Given the description of an element on the screen output the (x, y) to click on. 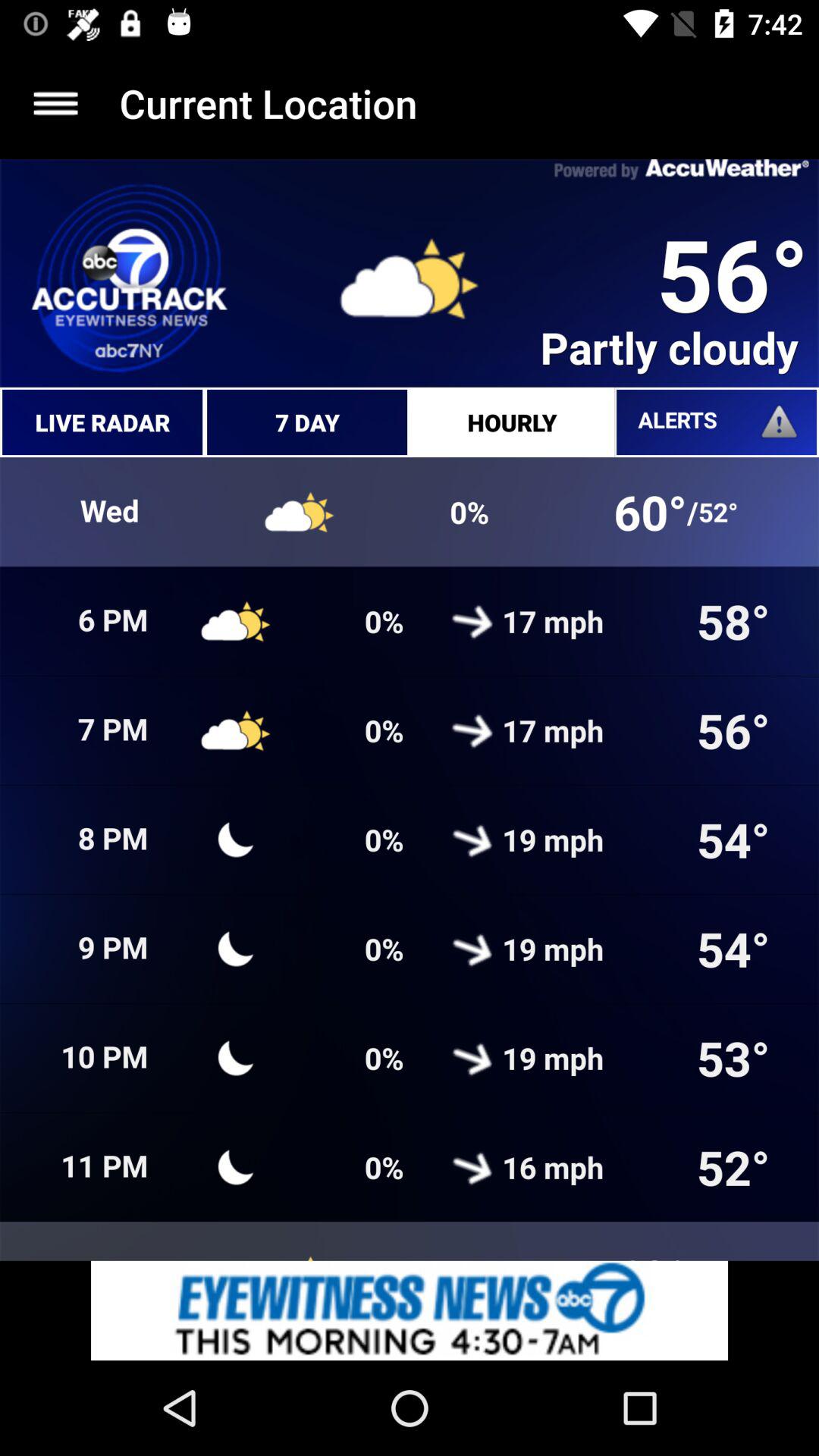
click on 7 day which is next to live radar (306, 422)
select the text on the top right corner of the web page (681, 169)
